Given the description of an element on the screen output the (x, y) to click on. 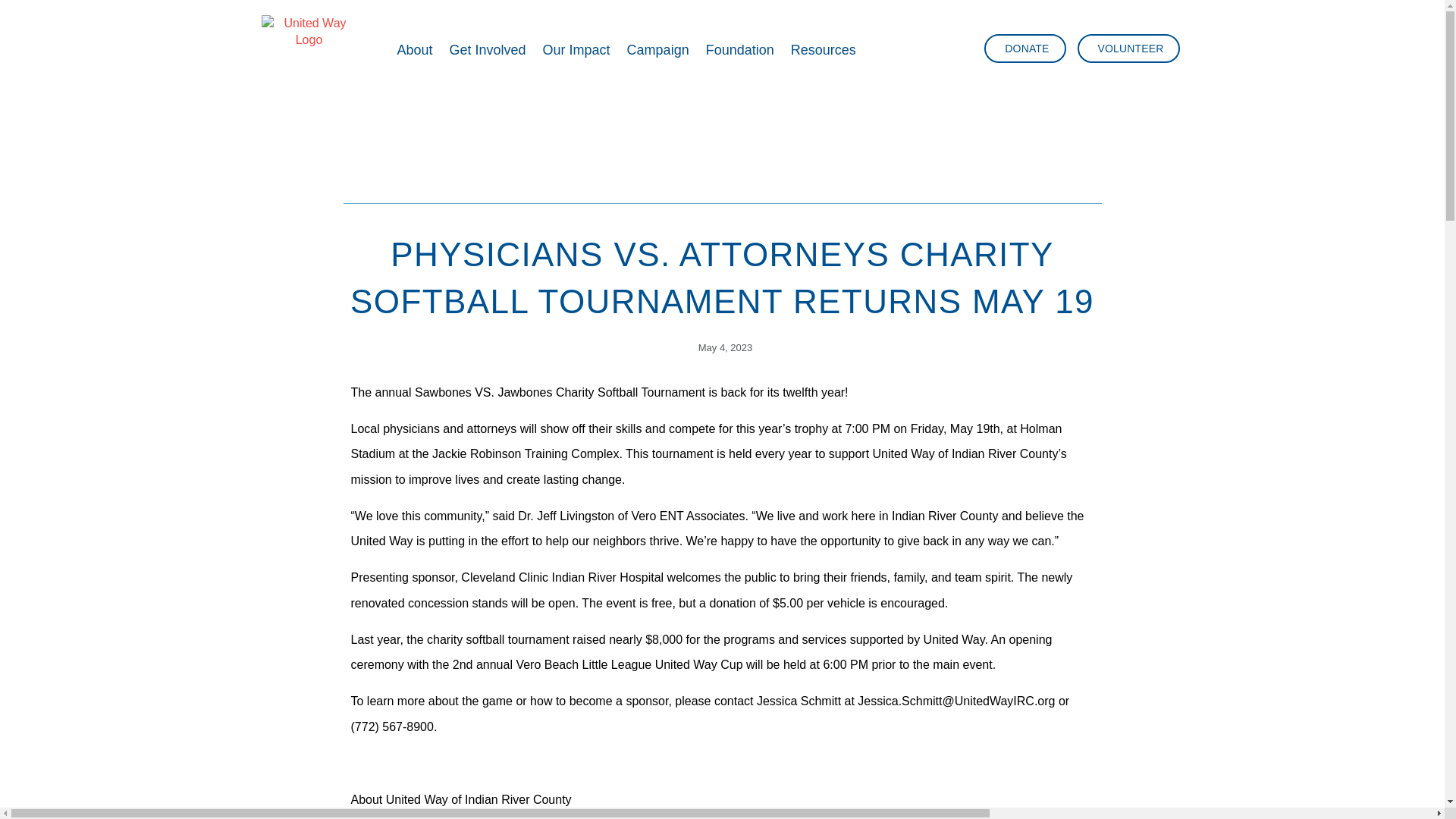
Our Impact (576, 50)
Campaign (657, 50)
Get Involved (487, 50)
Foundation (740, 50)
About (414, 50)
United Way Logo (309, 50)
